Given the description of an element on the screen output the (x, y) to click on. 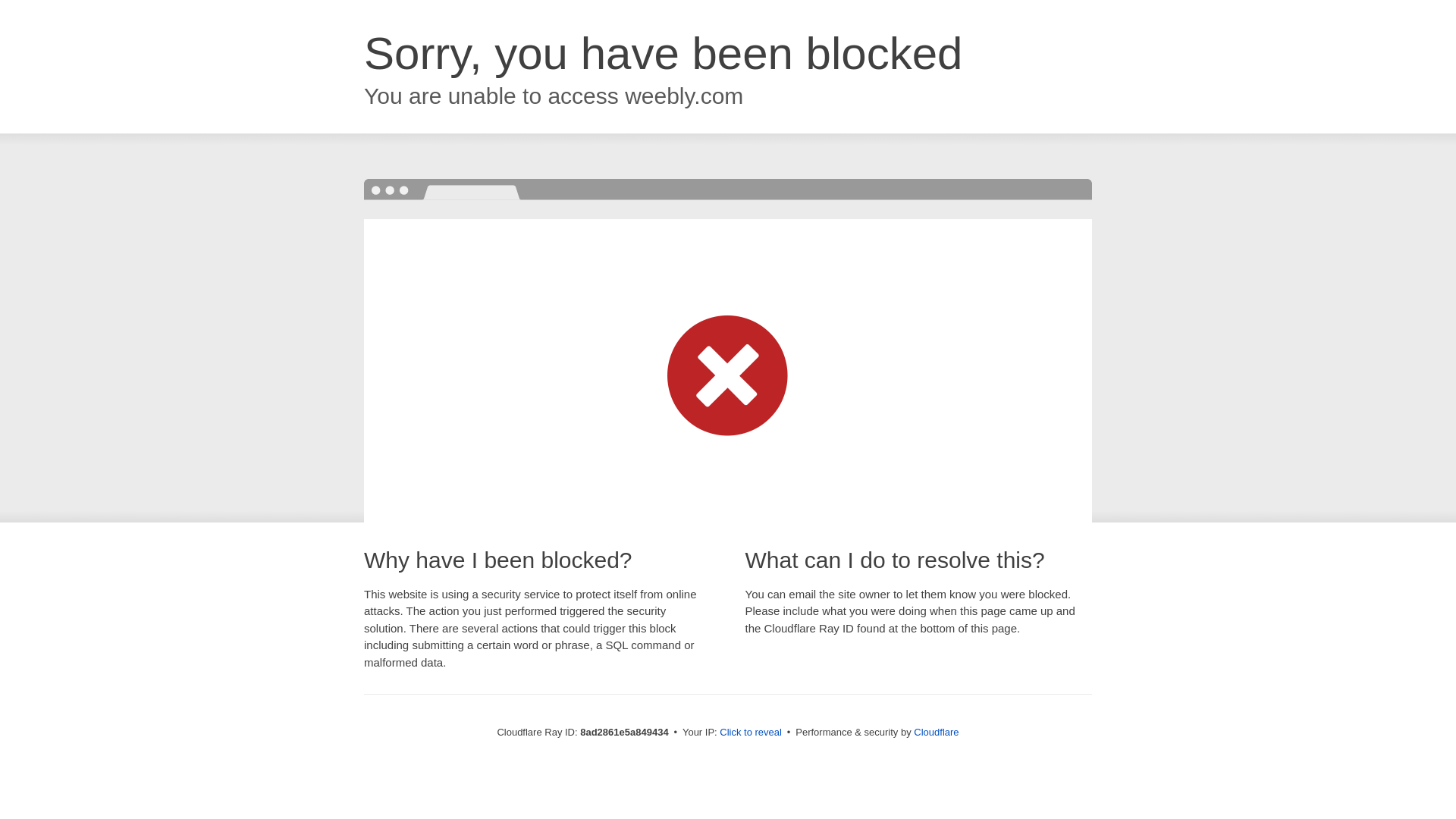
Cloudflare (936, 731)
Click to reveal (750, 732)
